Given the description of an element on the screen output the (x, y) to click on. 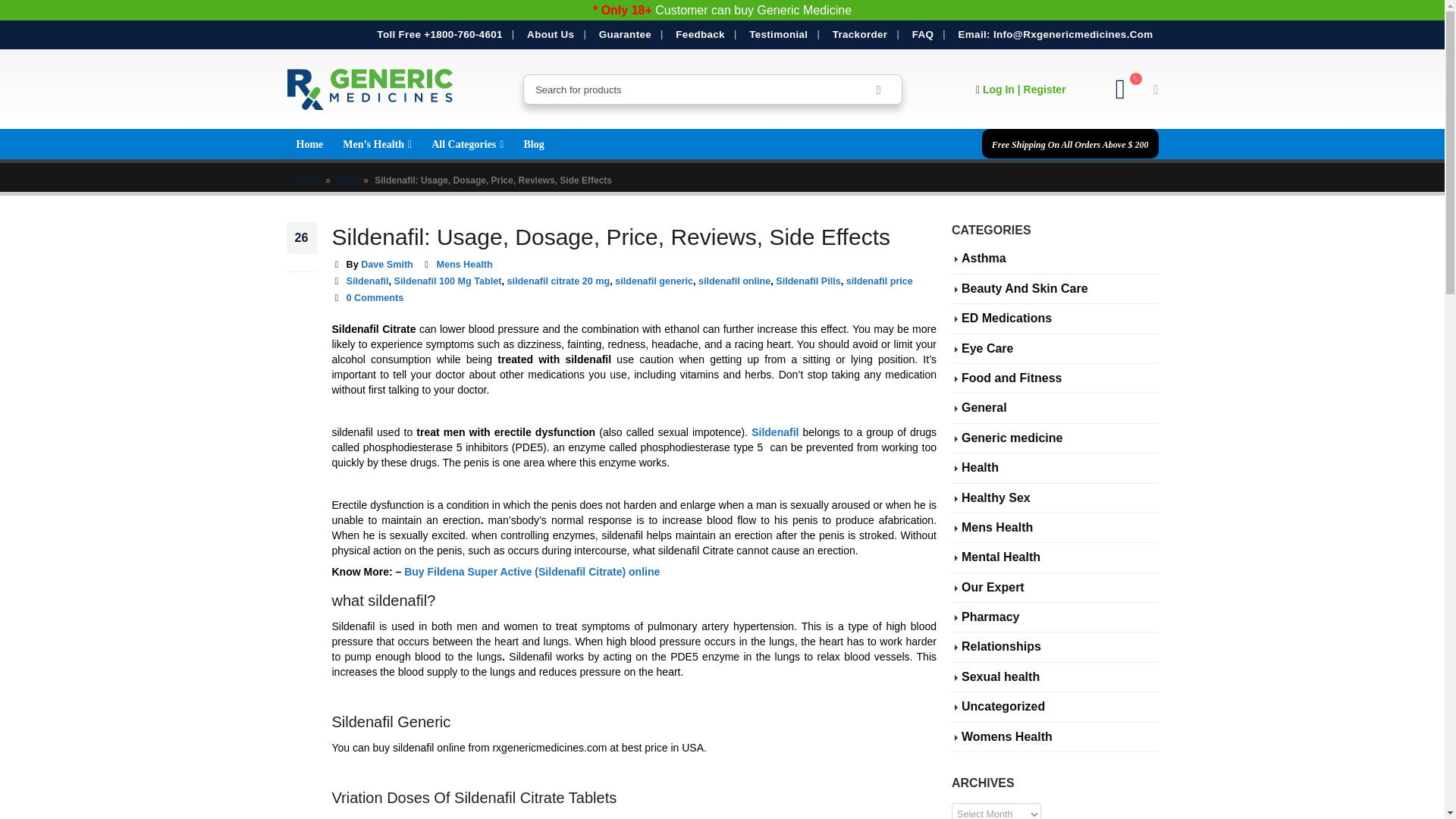
About Us (550, 34)
Rx Generic Medicines -  (369, 88)
Feedback (699, 34)
Home (309, 143)
Blog (533, 143)
Mens Health (463, 264)
Search for products (877, 89)
Testimonial (778, 34)
All Categories (467, 143)
Blog (346, 180)
